Given the description of an element on the screen output the (x, y) to click on. 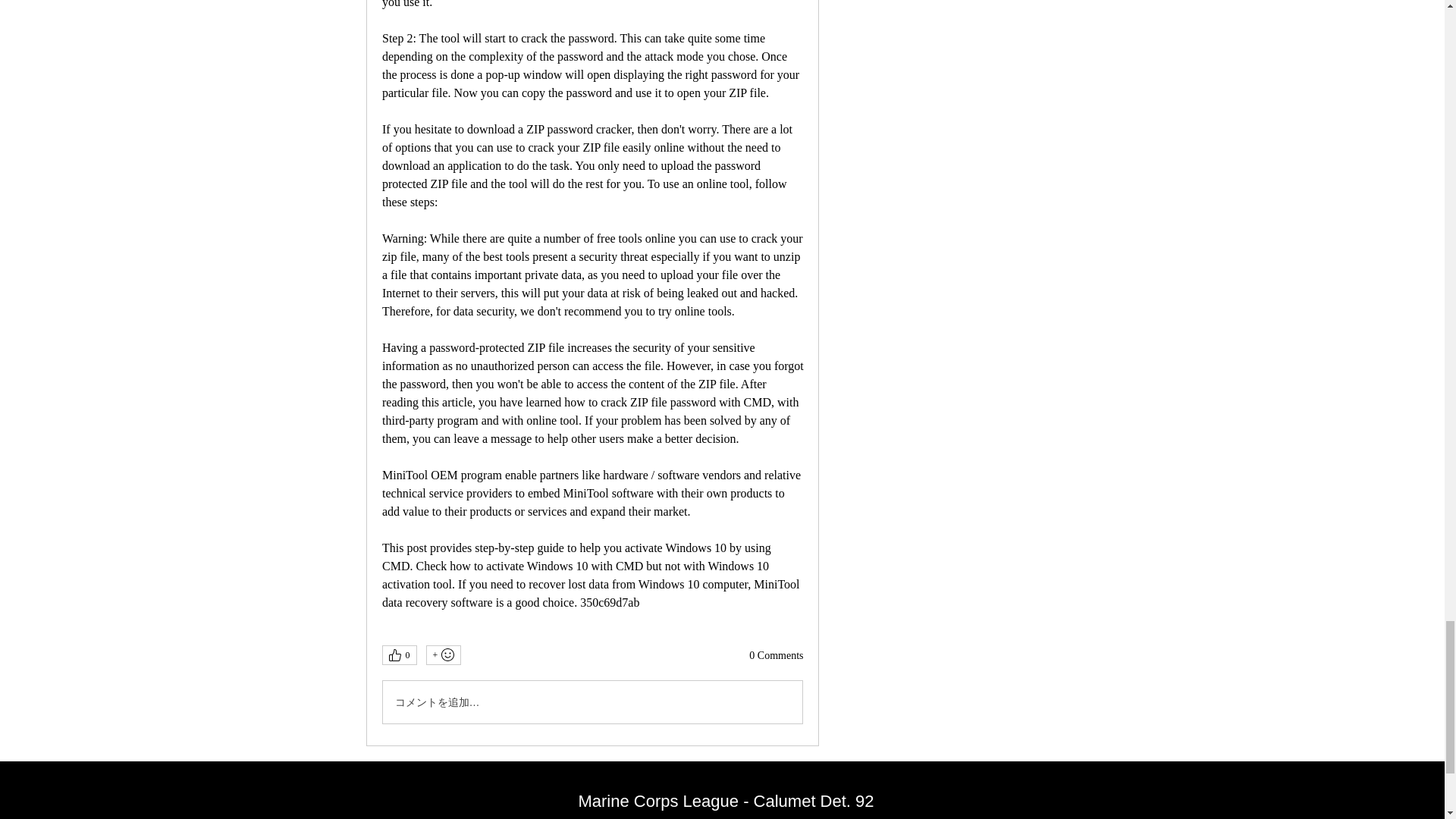
Marine Corps League - Calumet Det. 92 (725, 800)
0 Comments (776, 655)
